Given the description of an element on the screen output the (x, y) to click on. 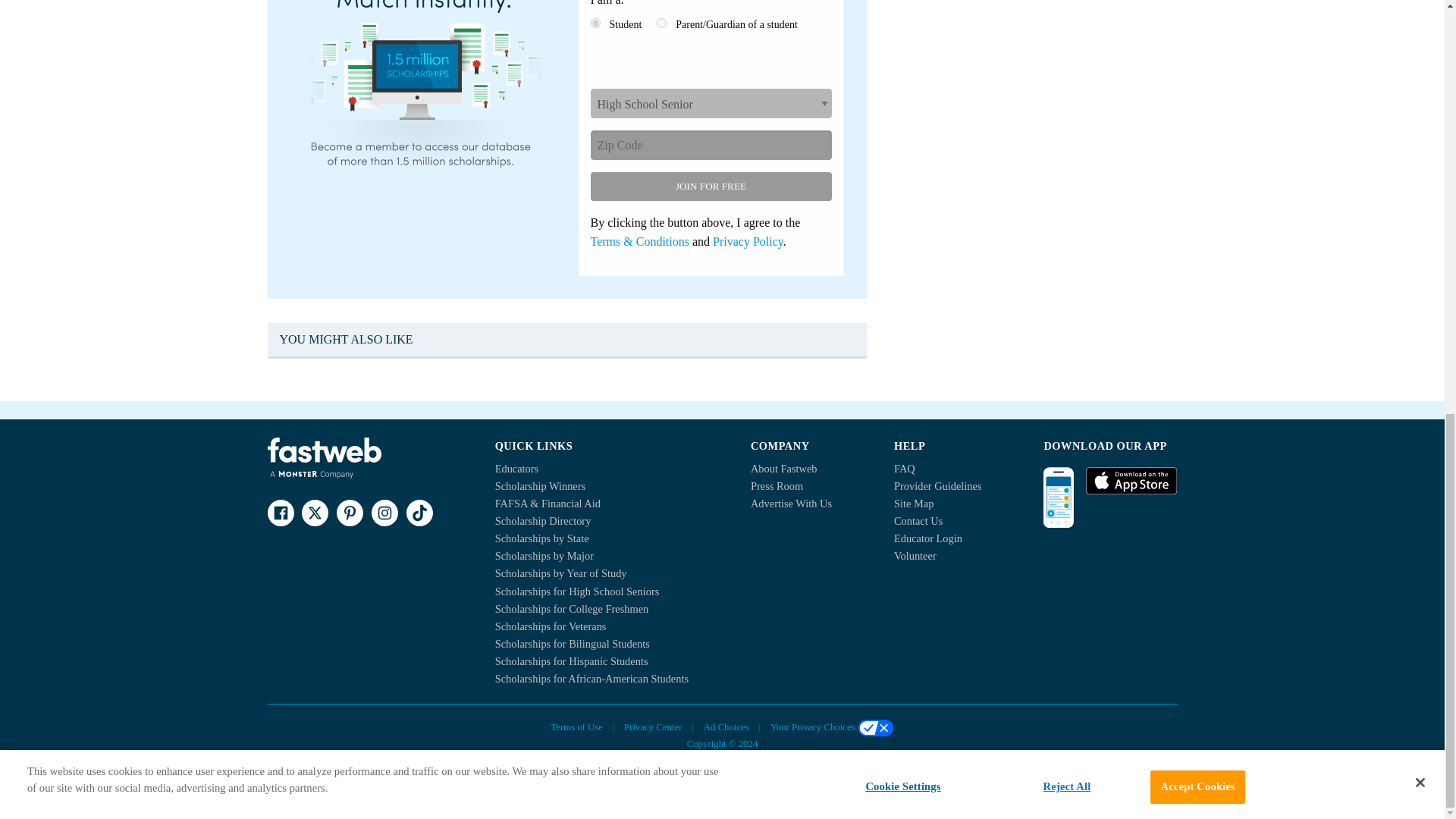
Fastweb on TikTok (419, 512)
2 (661, 22)
Fastweb on Instagram (384, 512)
Join for free (710, 185)
Fastweb on IOS (1131, 480)
Fastweb on Pinterest (349, 512)
1 (594, 22)
Fastweb on Facebook (280, 512)
